Given the description of an element on the screen output the (x, y) to click on. 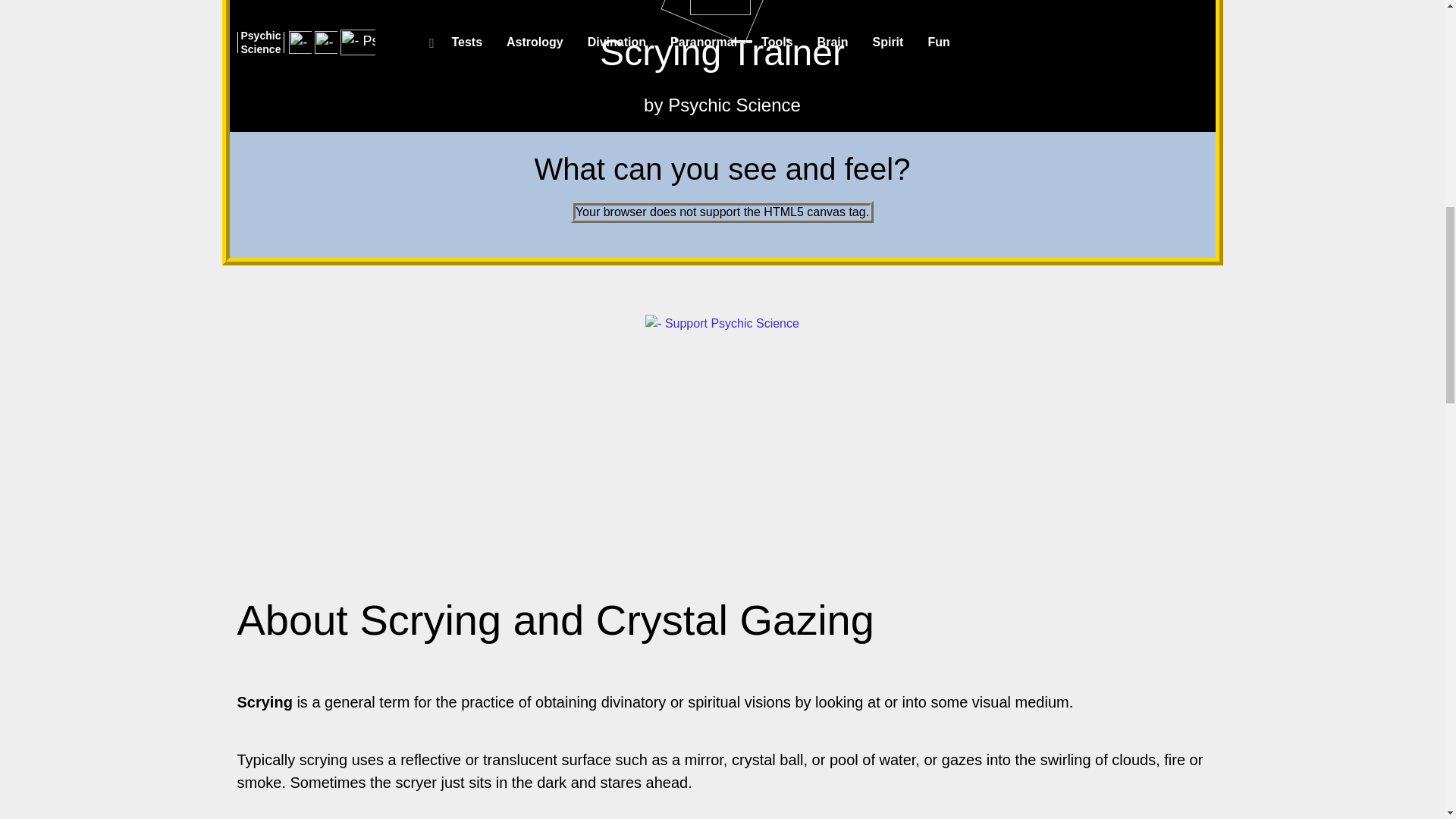
- Support Psychic Science (722, 323)
